Given the description of an element on the screen output the (x, y) to click on. 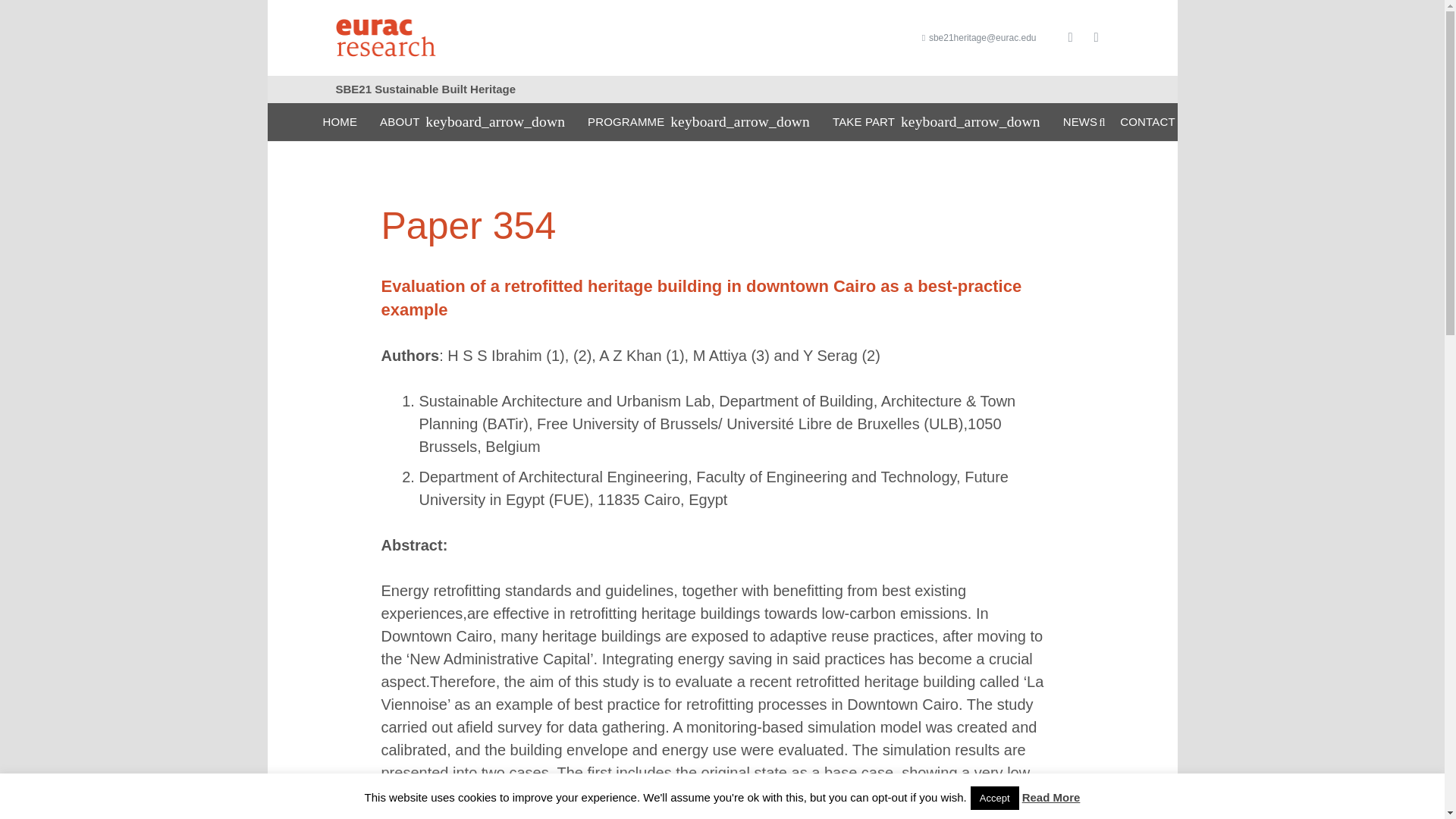
Twitter (1095, 37)
TAKE PART (936, 121)
Accept (995, 797)
PROGRAMME (698, 121)
LinkedIn (1070, 37)
Read More (1051, 797)
HOME (339, 121)
ABOUT (472, 121)
NEWS (1080, 121)
CONTACT (1147, 121)
